Given the description of an element on the screen output the (x, y) to click on. 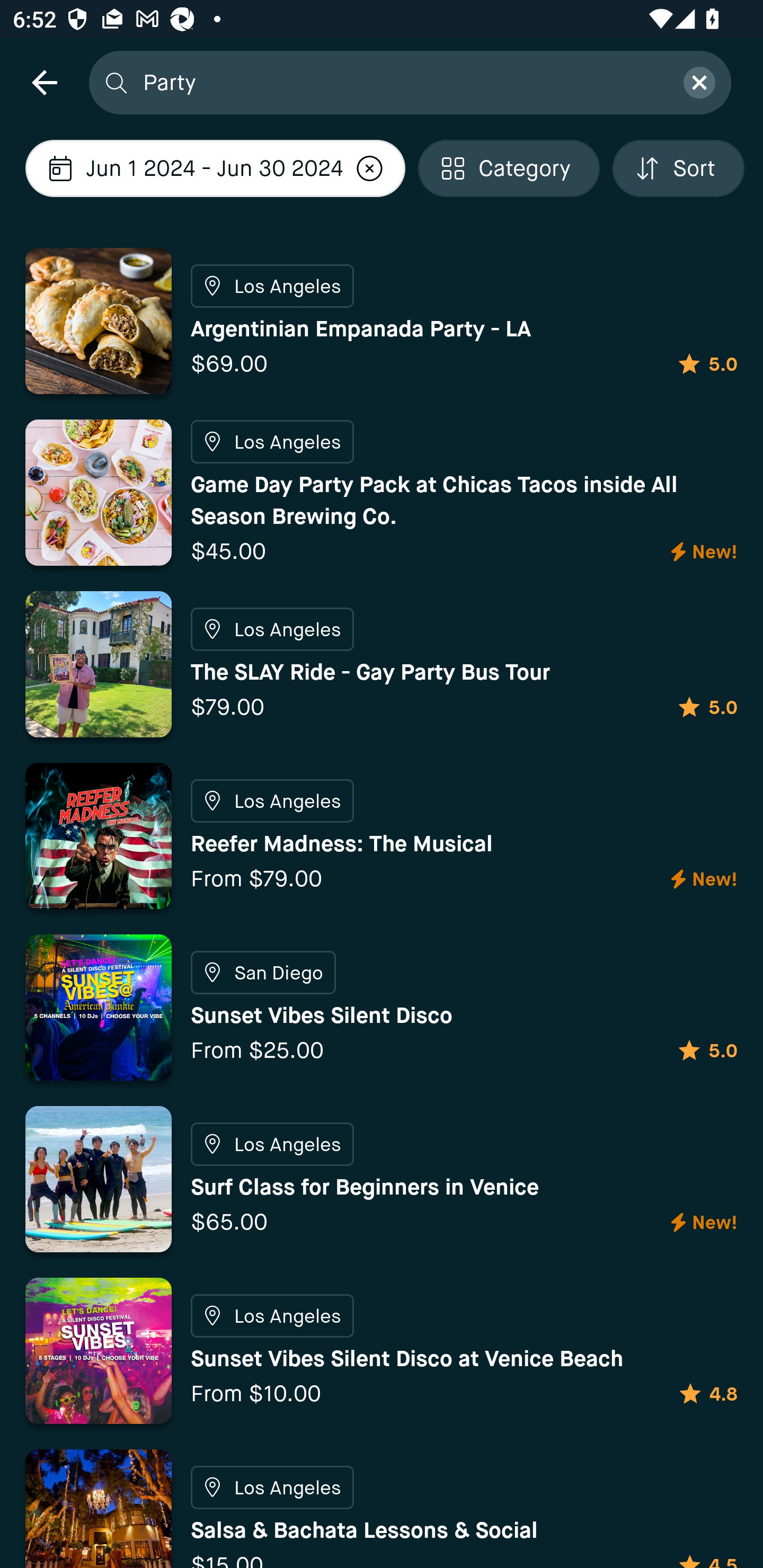
navigation icon (44, 81)
Party (402, 81)
Localized description (369, 168)
Localized description Category (508, 168)
Localized description Sort (678, 168)
